Given the description of an element on the screen output the (x, y) to click on. 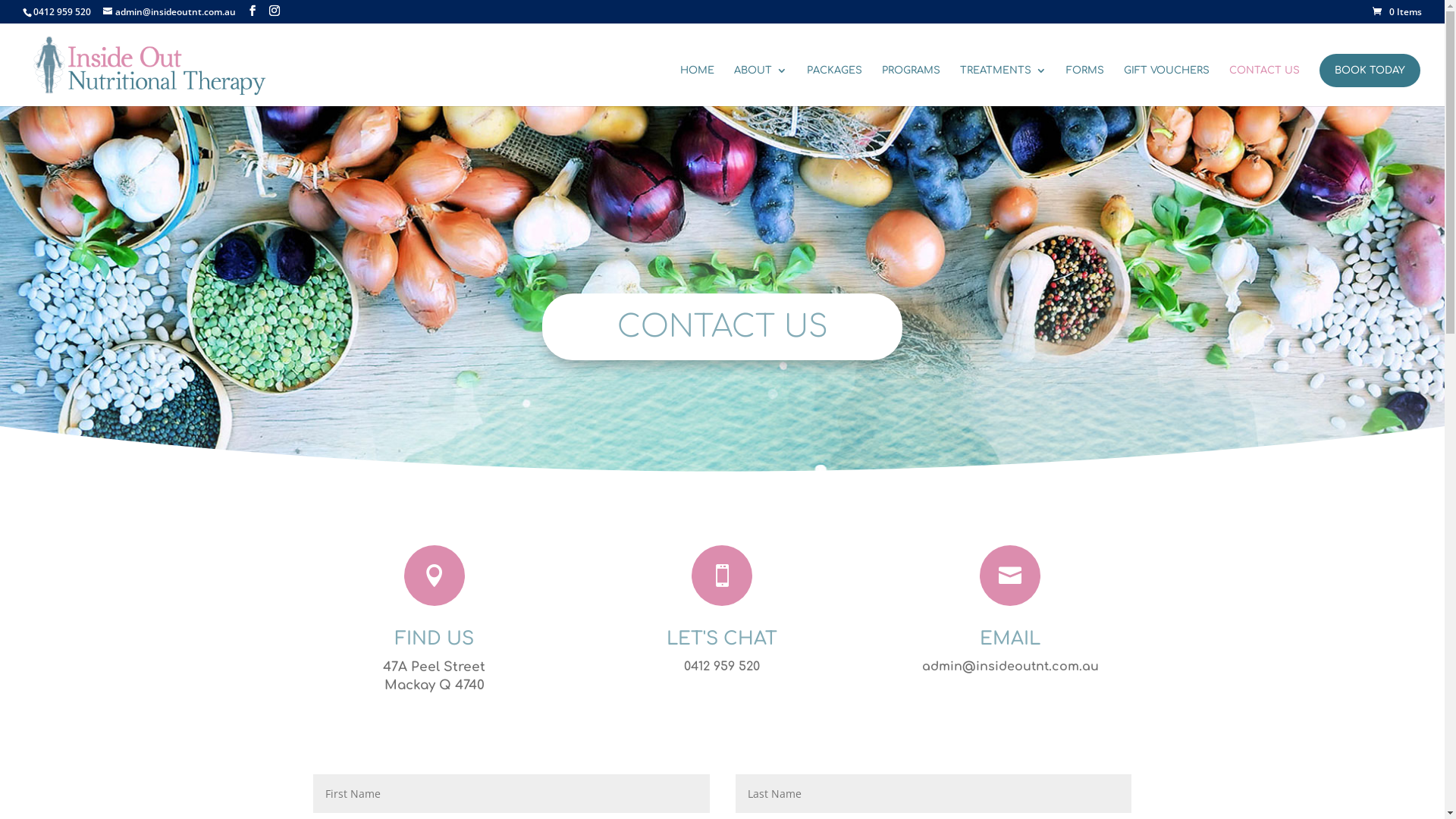
PACKAGES Element type: text (834, 85)
FORMS Element type: text (1085, 85)
CONTACT US Element type: text (1264, 85)
ABOUT Element type: text (760, 85)
BOOK TODAY Element type: text (1369, 70)
0 Items Element type: text (1396, 11)
HOME Element type: text (697, 85)
PROGRAMS Element type: text (910, 85)
GIFT VOUCHERS Element type: text (1166, 85)
admin@insideoutnt.com.au Element type: text (169, 11)
TREATMENTS Element type: text (1003, 85)
admin@insideoutnt.com.au Element type: text (1010, 666)
